Given the description of an element on the screen output the (x, y) to click on. 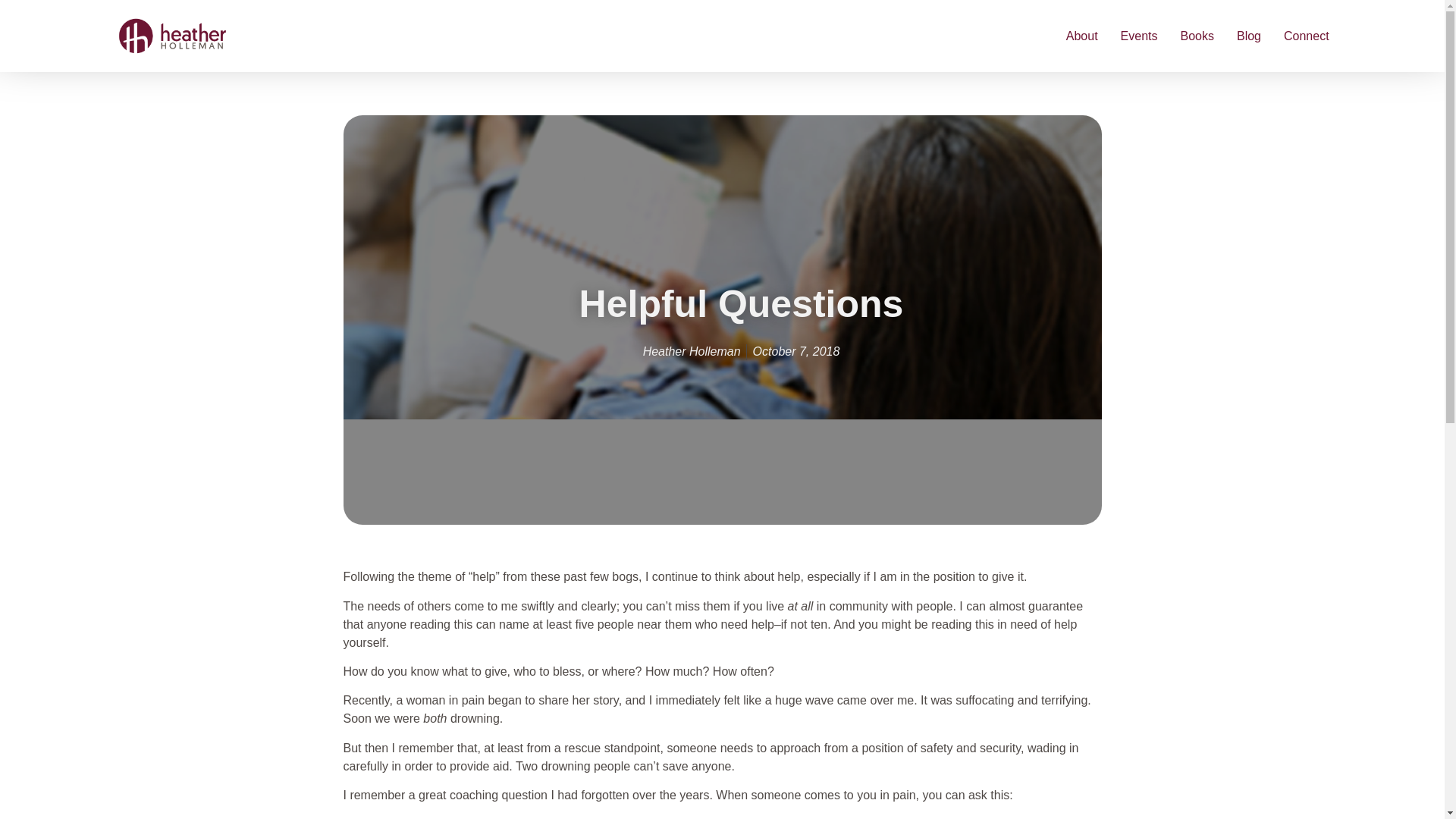
Books (1195, 35)
Connect (1306, 35)
About (1081, 35)
Events (1139, 35)
Blog (1248, 35)
